Given the description of an element on the screen output the (x, y) to click on. 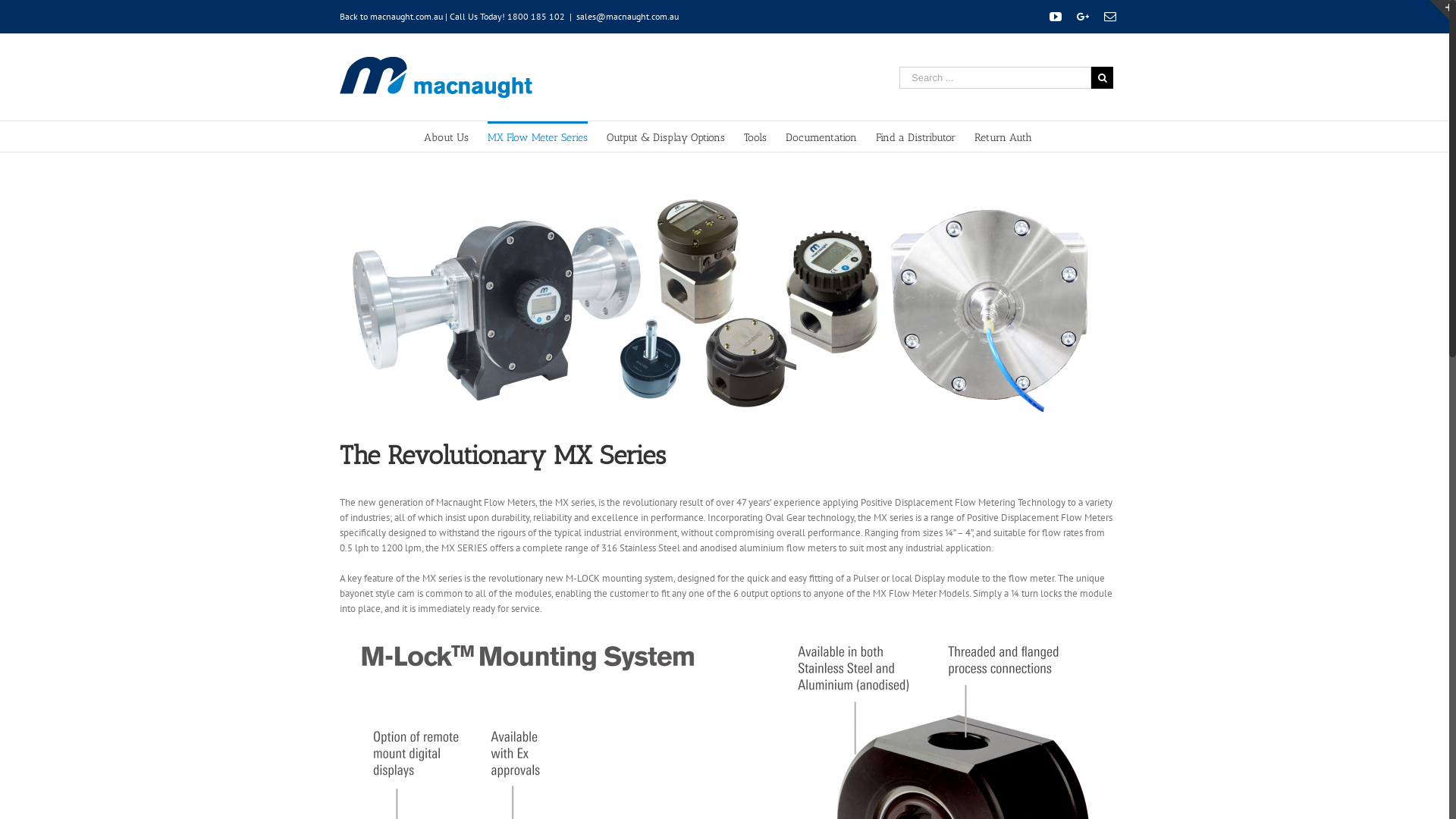
YouTube Element type: text (1055, 16)
MX Flow Meter Series Element type: text (537, 136)
Find a Distributor Element type: text (915, 136)
sales@macnaught.com.au Element type: text (627, 15)
Documentation Element type: text (820, 136)
Return Auth Element type: text (1003, 136)
Google+ Element type: text (1082, 16)
About Us Element type: text (445, 136)
Email Element type: text (1110, 16)
Tools Element type: text (754, 136)
Output & Display Options Element type: text (665, 136)
Back to macnaught.com.au Element type: text (390, 15)
